Given the description of an element on the screen output the (x, y) to click on. 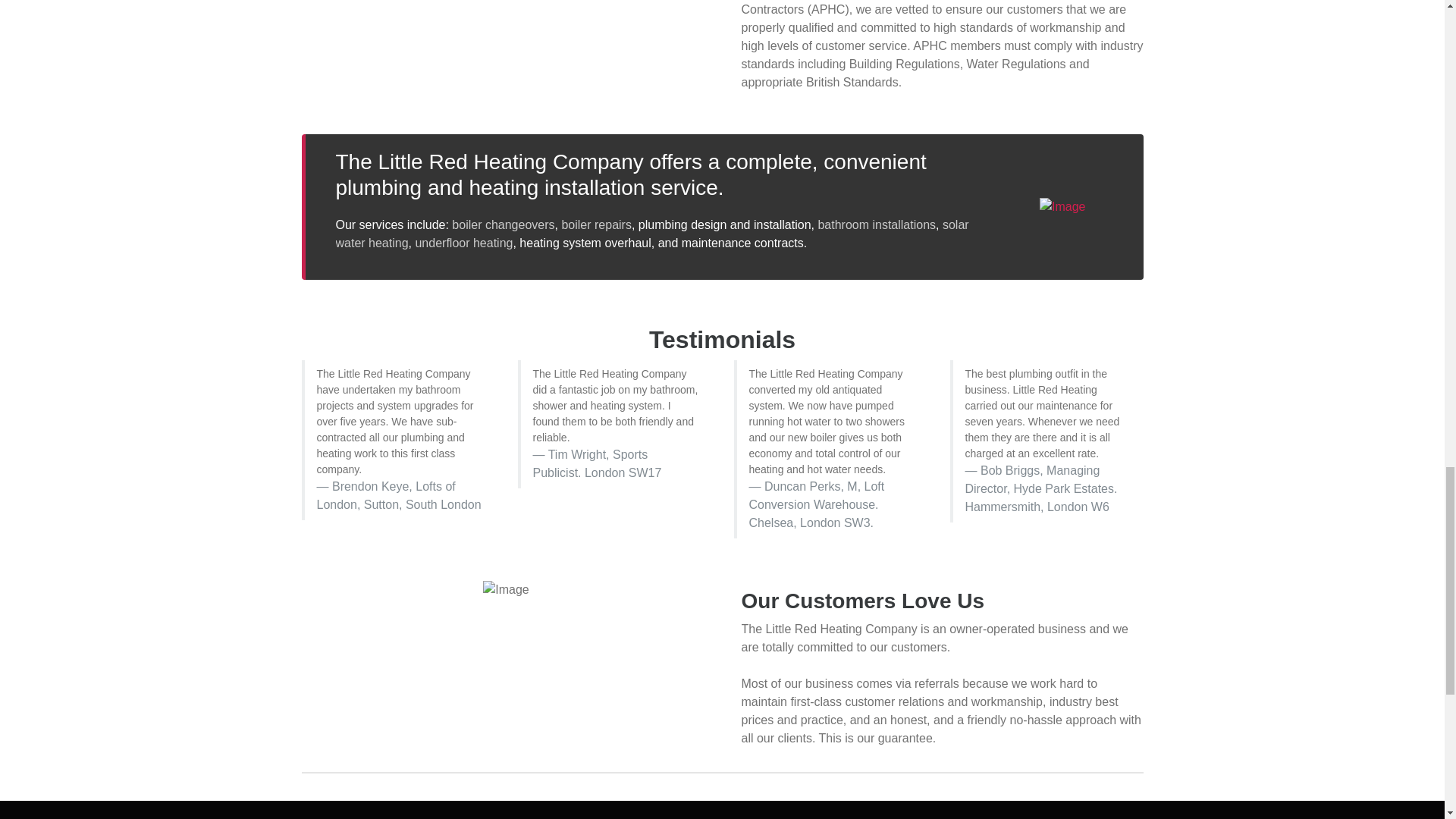
solar water heating (651, 233)
bathroom installations (876, 224)
Beautiful Bathrooms (876, 224)
boiler repairs (595, 224)
underfloor heating (463, 242)
boiler changeovers (502, 224)
